Given the description of an element on the screen output the (x, y) to click on. 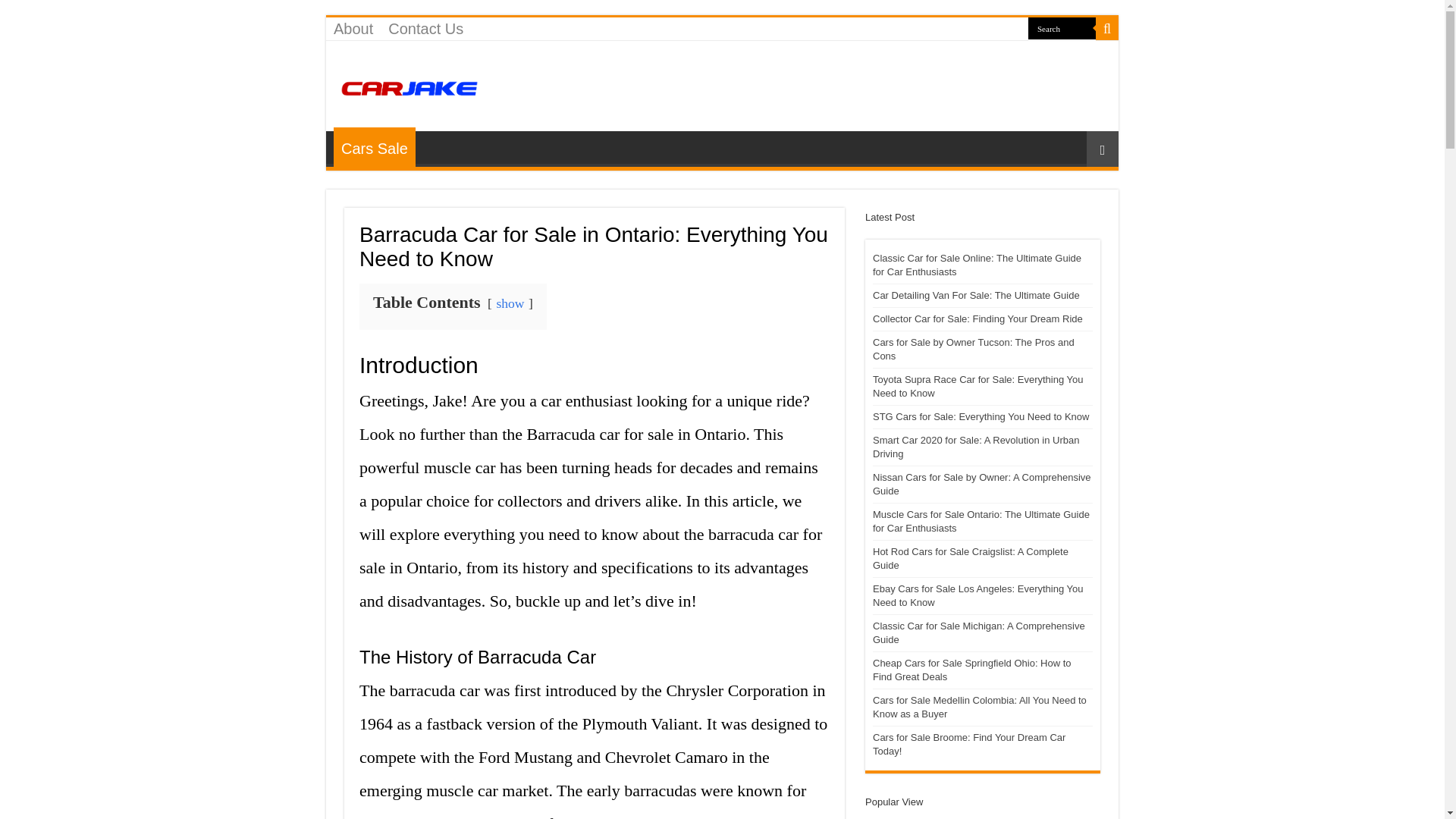
STG Cars for Sale: Everything You Need to Know (980, 416)
Smart Car 2020 for Sale: A Revolution in Urban Driving (975, 446)
Search (1107, 28)
Random Article (1102, 149)
Car Jake (409, 85)
Collector Car for Sale: Finding Your Dream Ride (977, 318)
show (510, 303)
Cars for Sale by Owner Tucson: The Pros and Cons (973, 348)
Search (1061, 28)
Search (1061, 28)
